Given the description of an element on the screen output the (x, y) to click on. 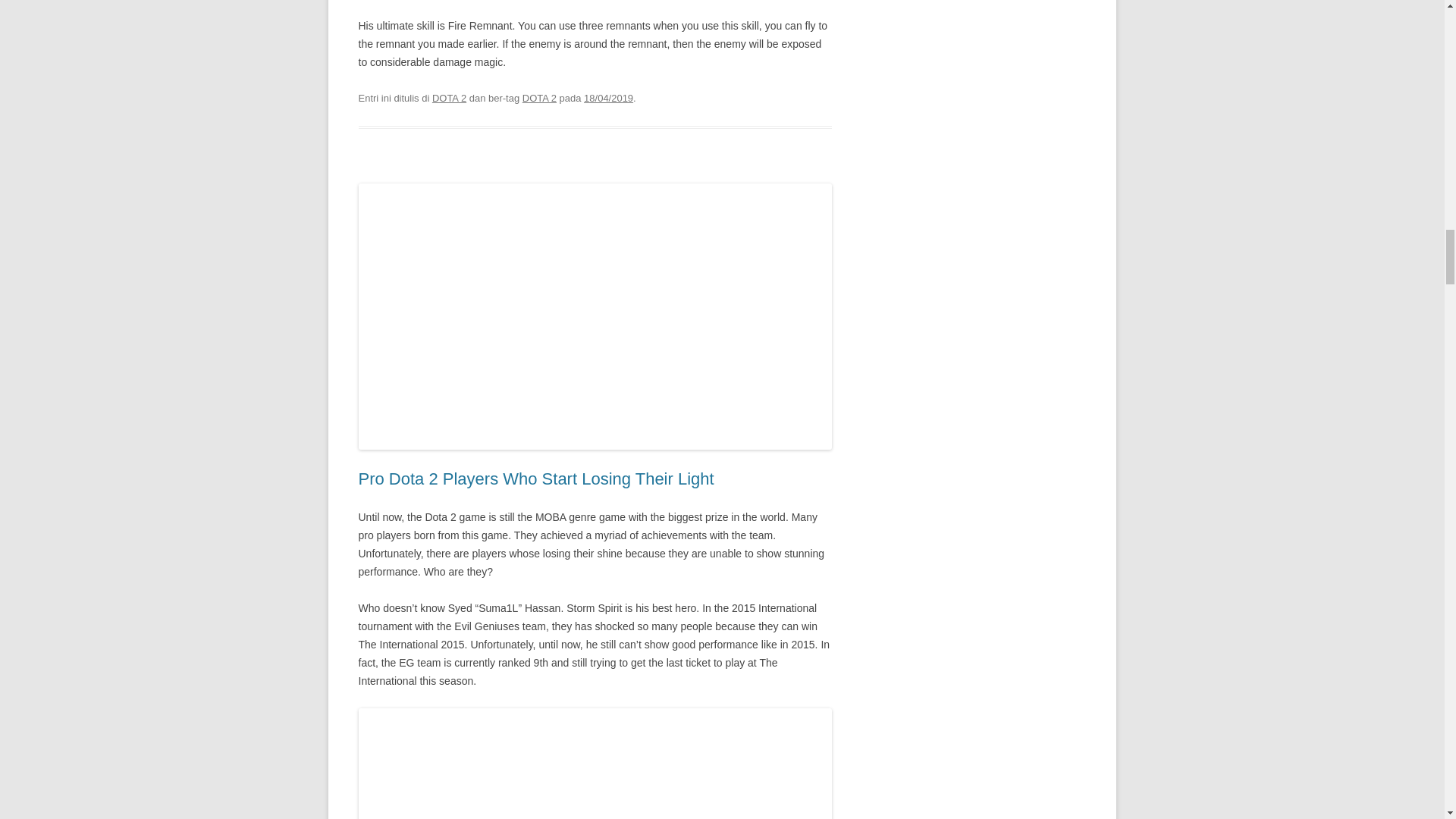
15:17 (608, 98)
DOTA 2 (539, 98)
Pro Dota 2 Players Who Start Losing Their Light (535, 478)
DOTA 2 (448, 98)
